Given the description of an element on the screen output the (x, y) to click on. 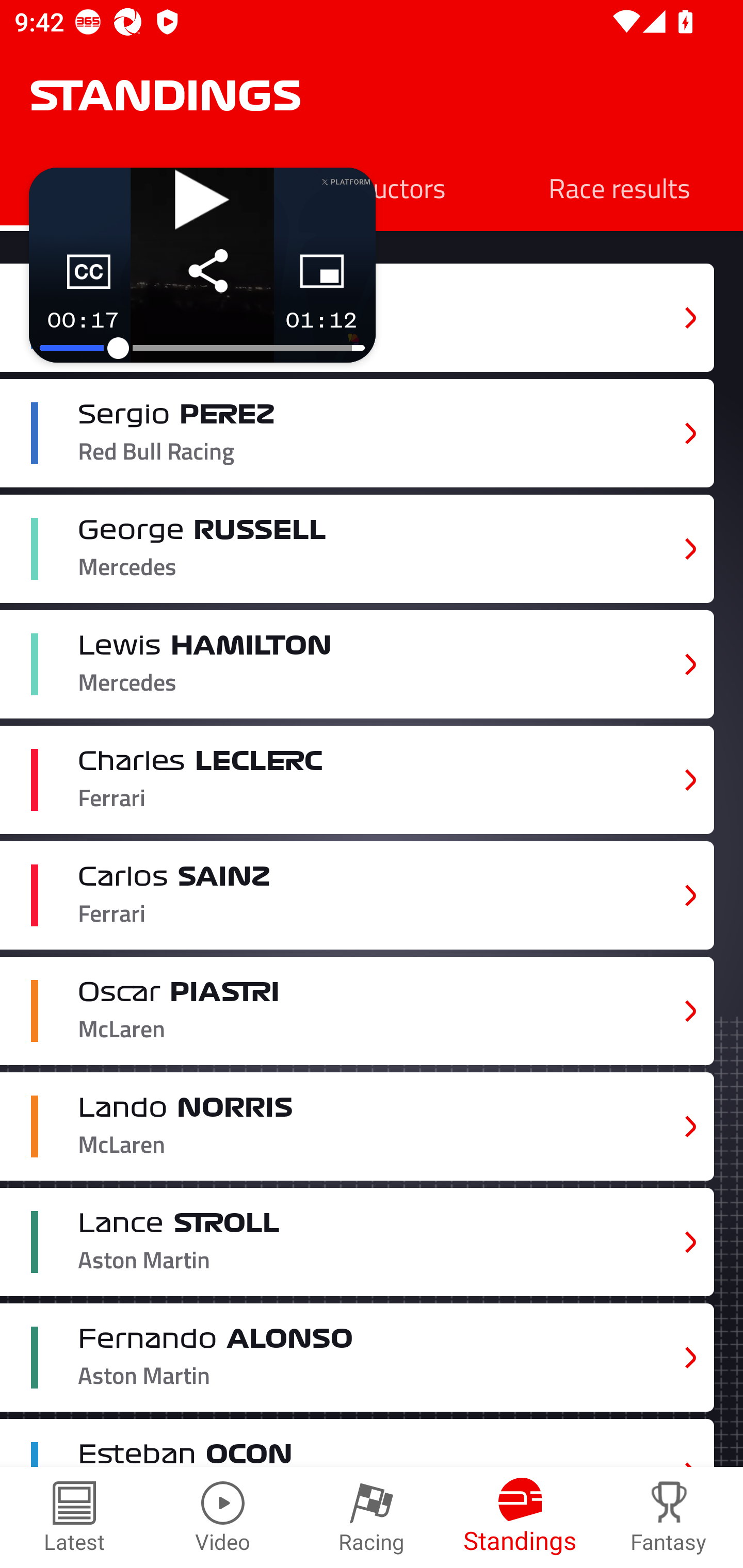
Race results (619, 187)
Sergio PEREZ Red Bull Racing (357, 433)
George RUSSELL Mercedes (357, 548)
Lewis HAMILTON Mercedes (357, 663)
Charles LECLERC Ferrari (357, 779)
Carlos SAINZ Ferrari (357, 896)
Oscar PIASTRI McLaren (357, 1010)
Lando NORRIS McLaren (357, 1126)
Lance STROLL Aston Martin (357, 1242)
Fernando ALONSO Aston Martin (357, 1357)
Latest (74, 1517)
Video (222, 1517)
Racing (371, 1517)
Fantasy (668, 1517)
